Given the description of an element on the screen output the (x, y) to click on. 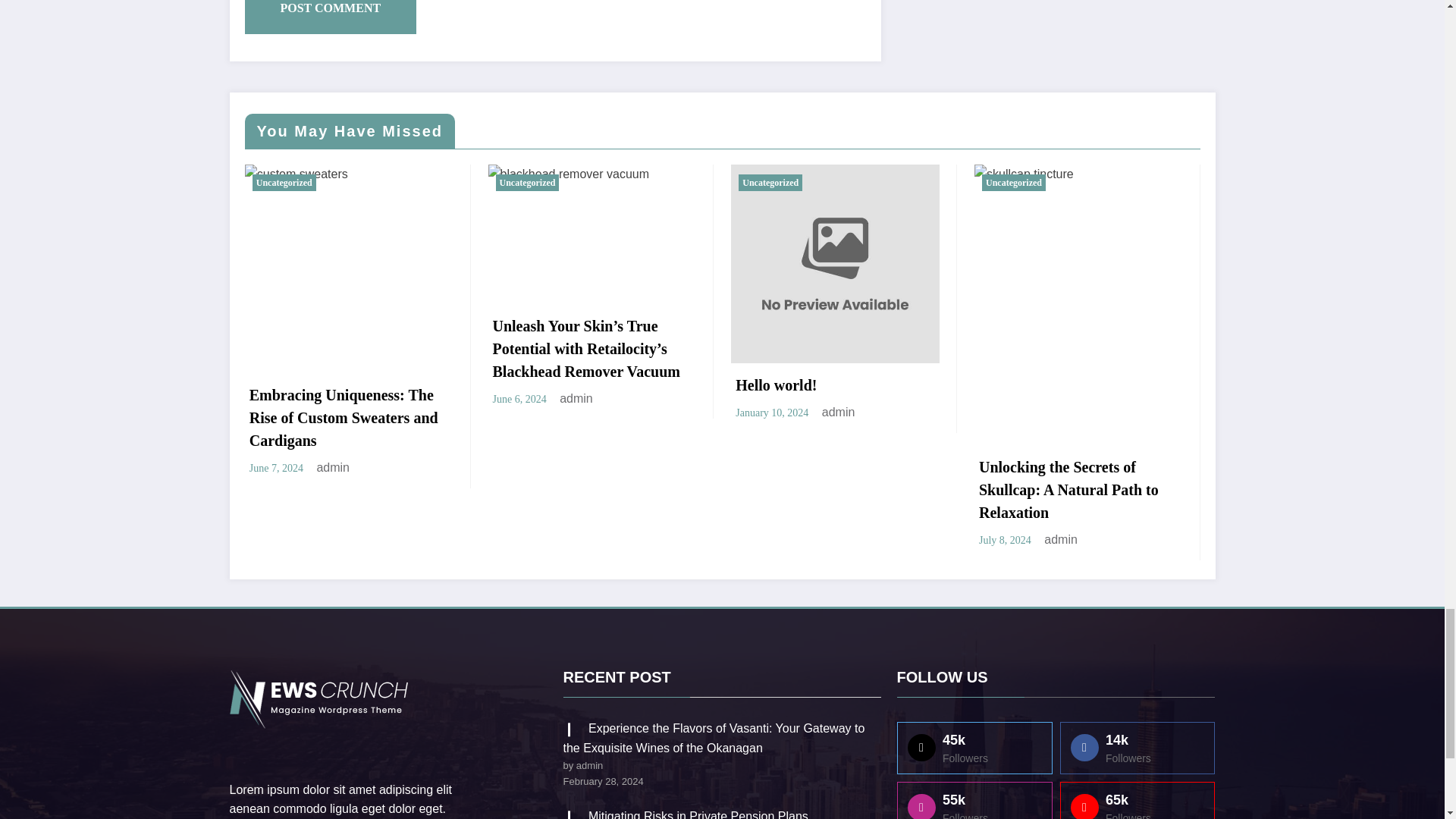
Post Comment (330, 17)
